Given the description of an element on the screen output the (x, y) to click on. 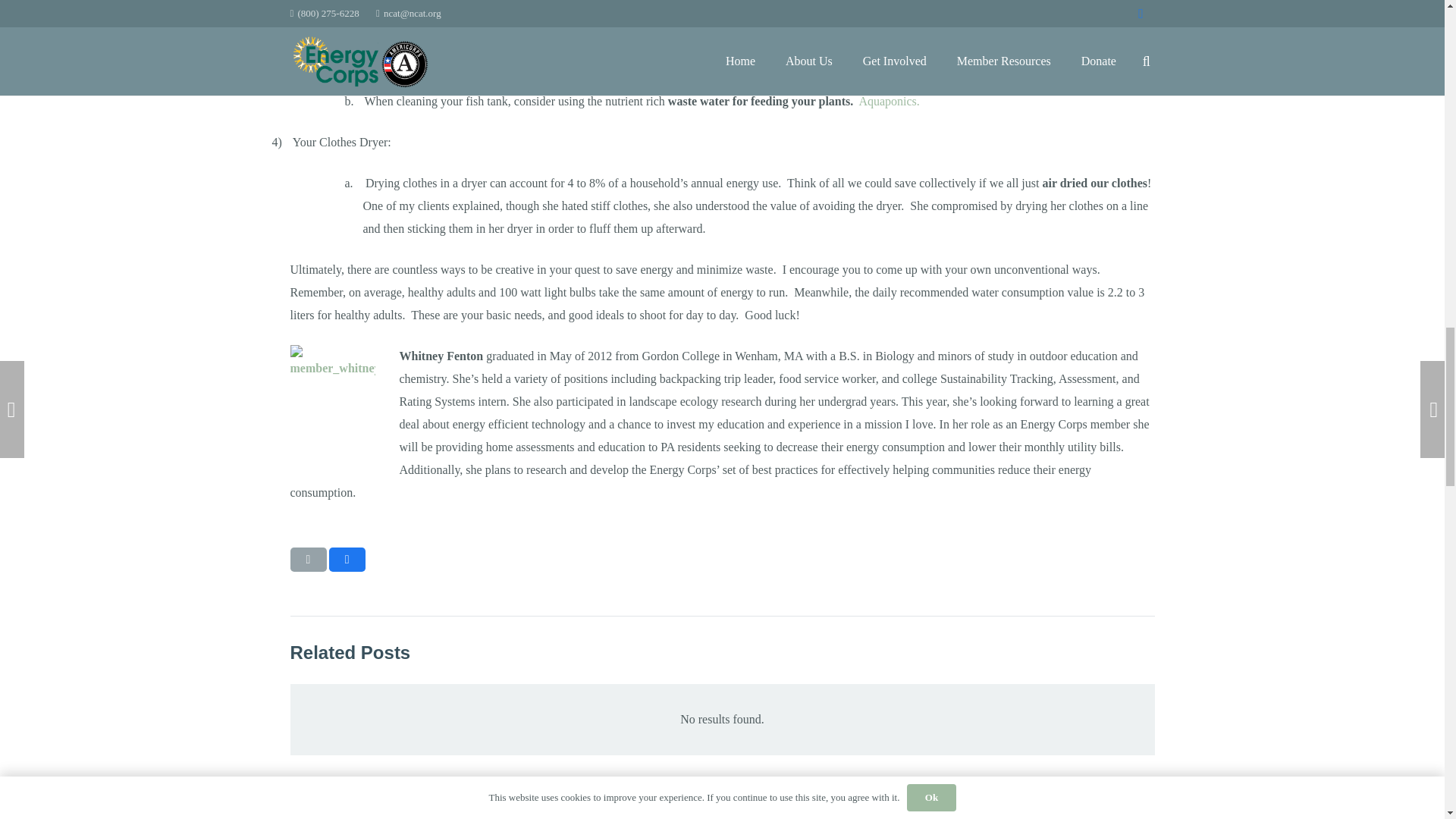
Email this (307, 559)
Share this (347, 559)
Aquaponics. (888, 101)
